Given the description of an element on the screen output the (x, y) to click on. 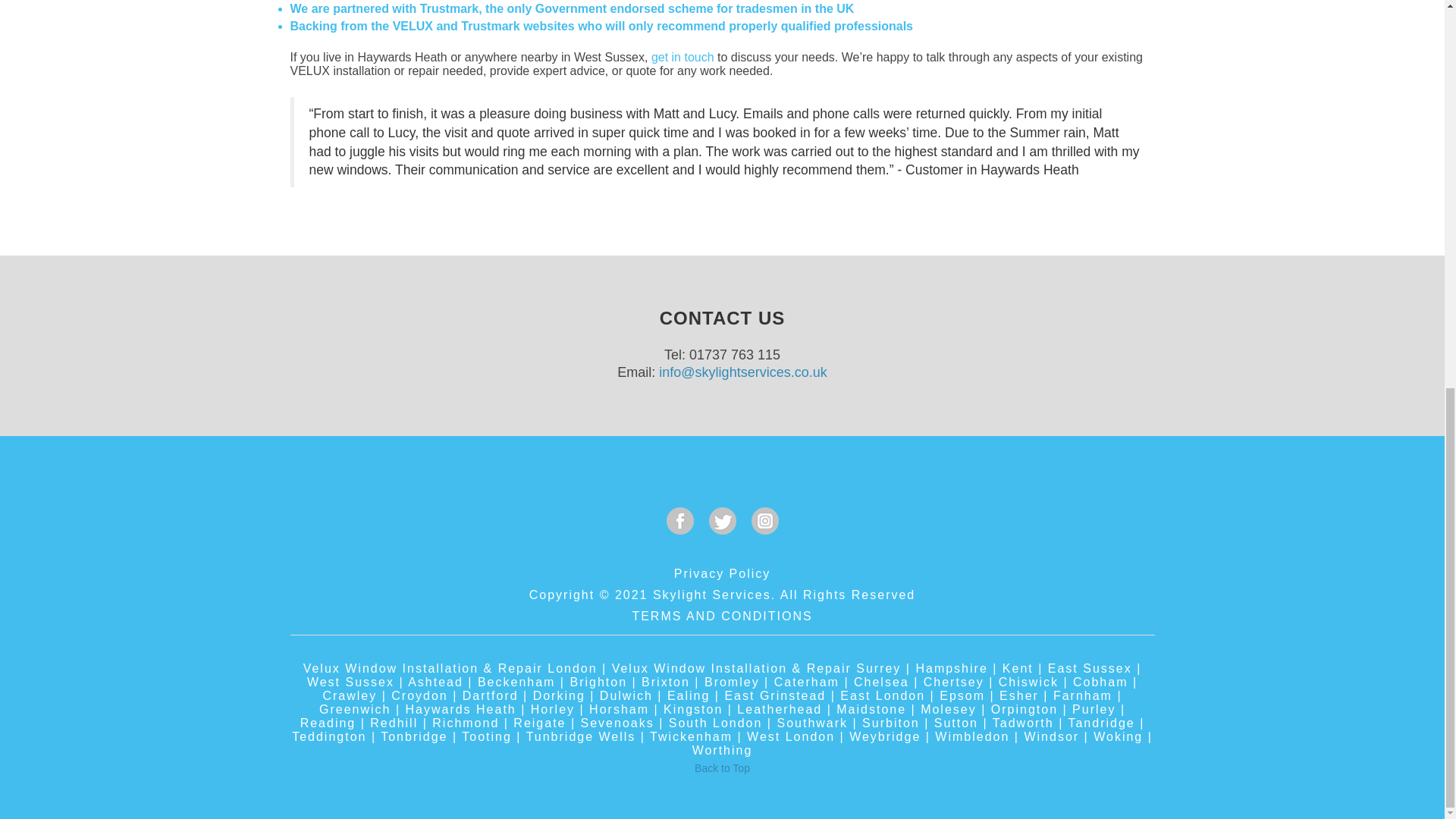
Chertsey (953, 681)
Brighton (598, 681)
TERMS AND CONDITIONS (721, 615)
Beckenham (516, 681)
01737 763 115 (734, 354)
Hampshire (951, 667)
Ashtead (435, 681)
East Sussex (1090, 667)
Caterham (807, 681)
get in touch (682, 56)
Privacy Policy (722, 573)
Back to Top (721, 767)
Chelsea (880, 681)
West Sussex (350, 681)
Bromley (732, 681)
